Given the description of an element on the screen output the (x, y) to click on. 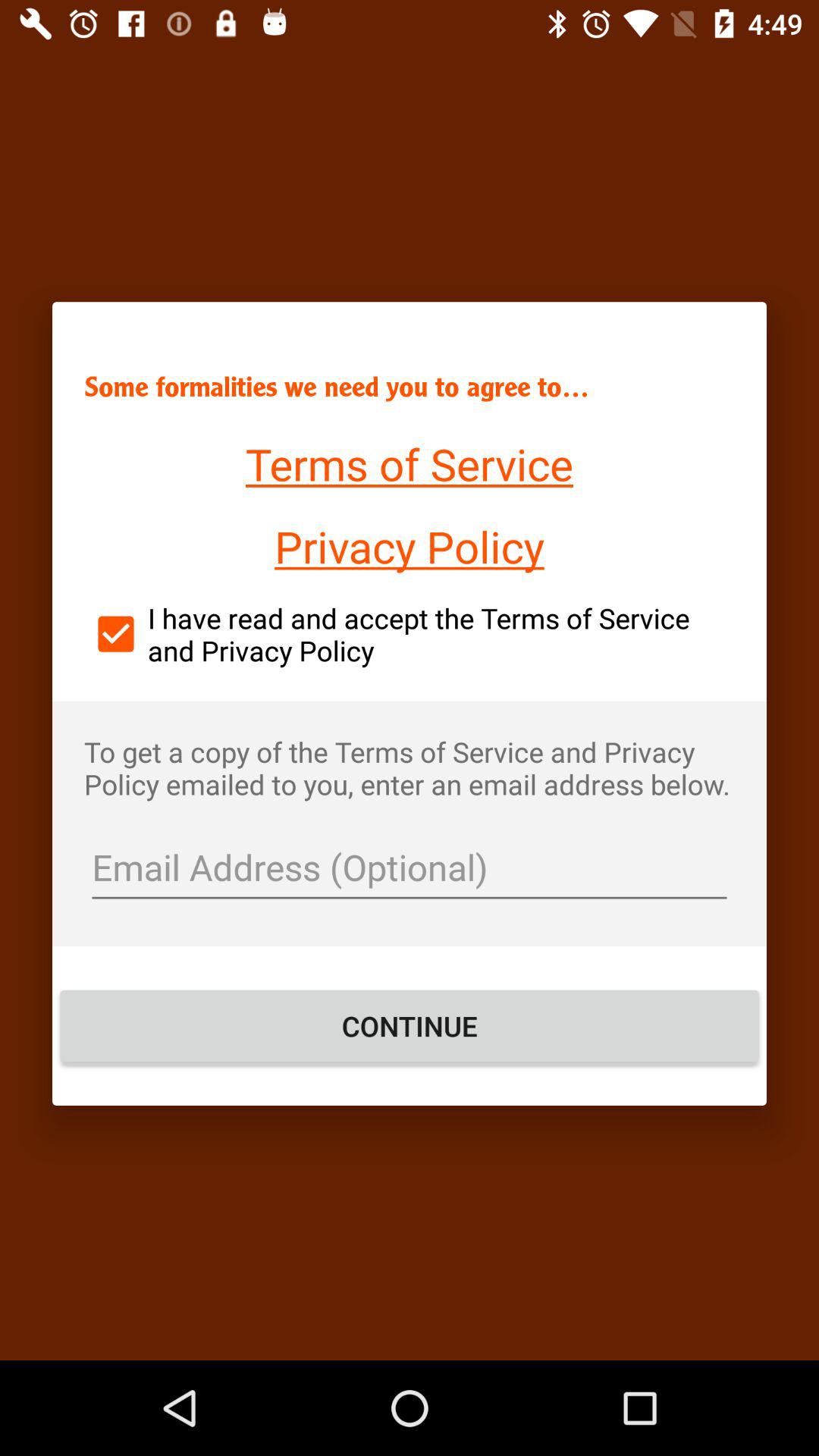
jump to to get a (409, 768)
